Given the description of an element on the screen output the (x, y) to click on. 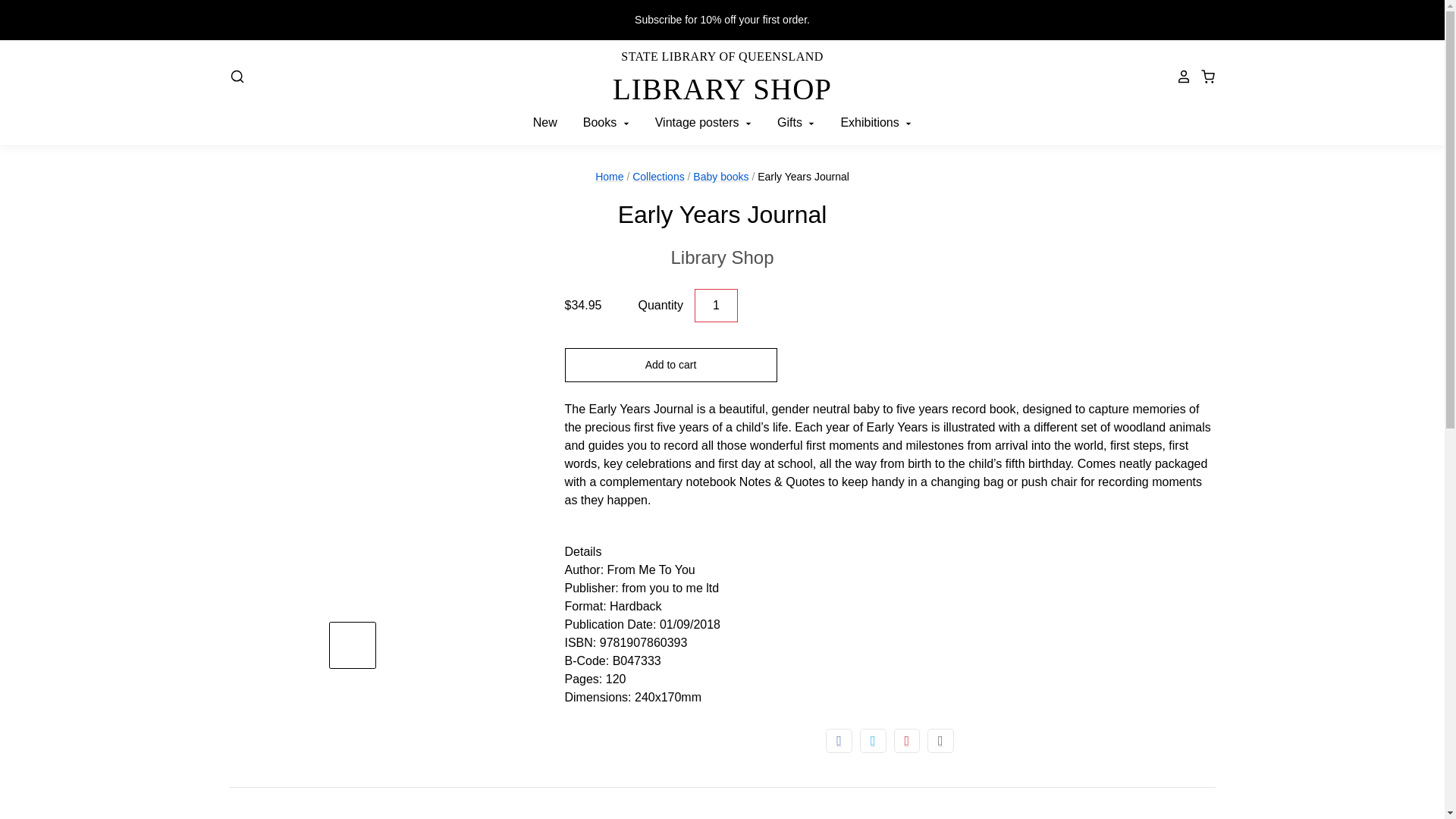
1 (715, 305)
Add to cart (721, 257)
